Given the description of an element on the screen output the (x, y) to click on. 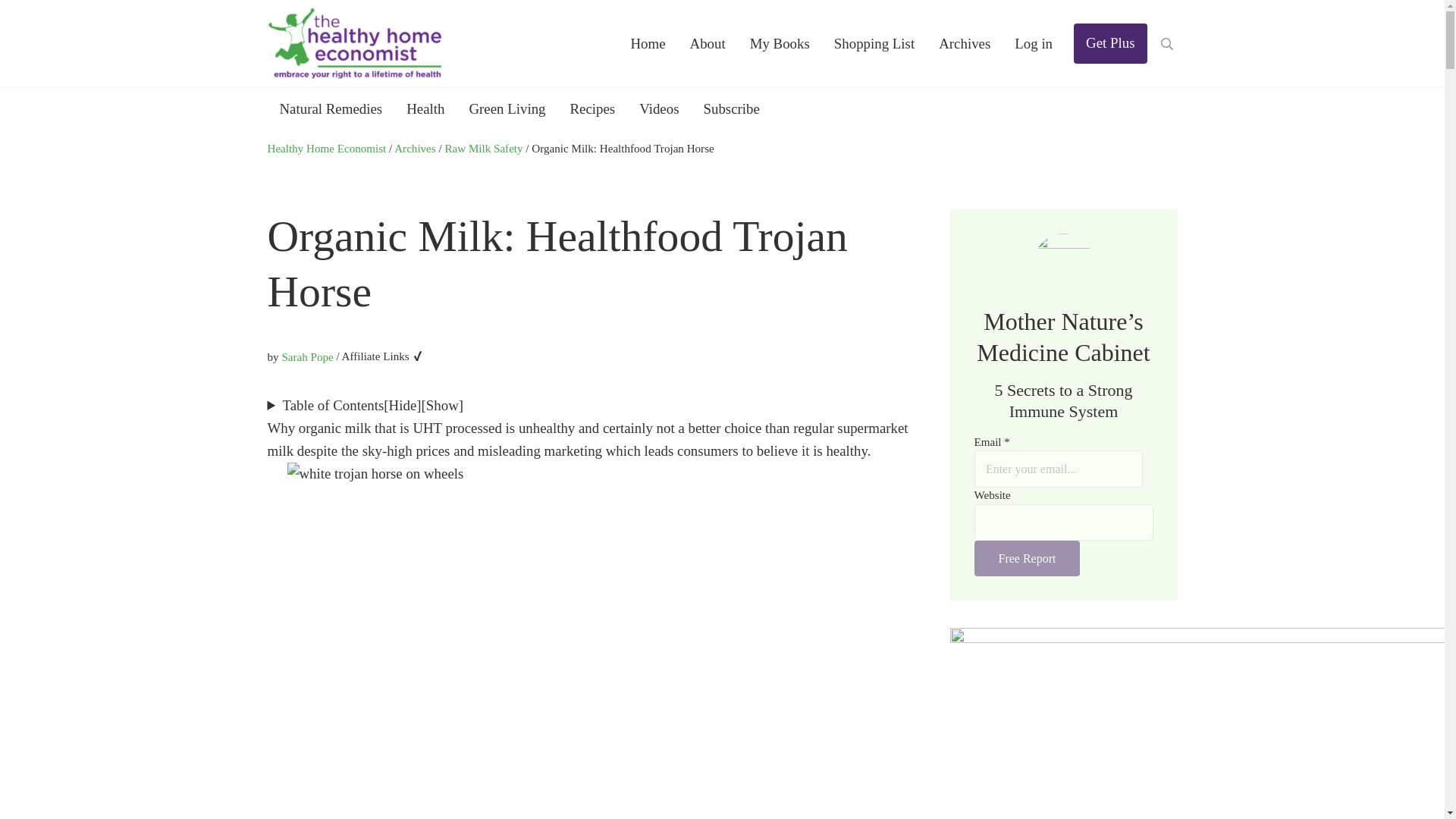
Recipes (592, 108)
Health (425, 108)
Get Plus (1110, 43)
Natural Remedies (330, 108)
Log in (1033, 43)
Videos (658, 108)
Green Living (507, 108)
Archives (964, 43)
Home (647, 43)
Shopping List (874, 43)
My Books (780, 43)
Subscribe (731, 108)
About (708, 43)
